Given the description of an element on the screen output the (x, y) to click on. 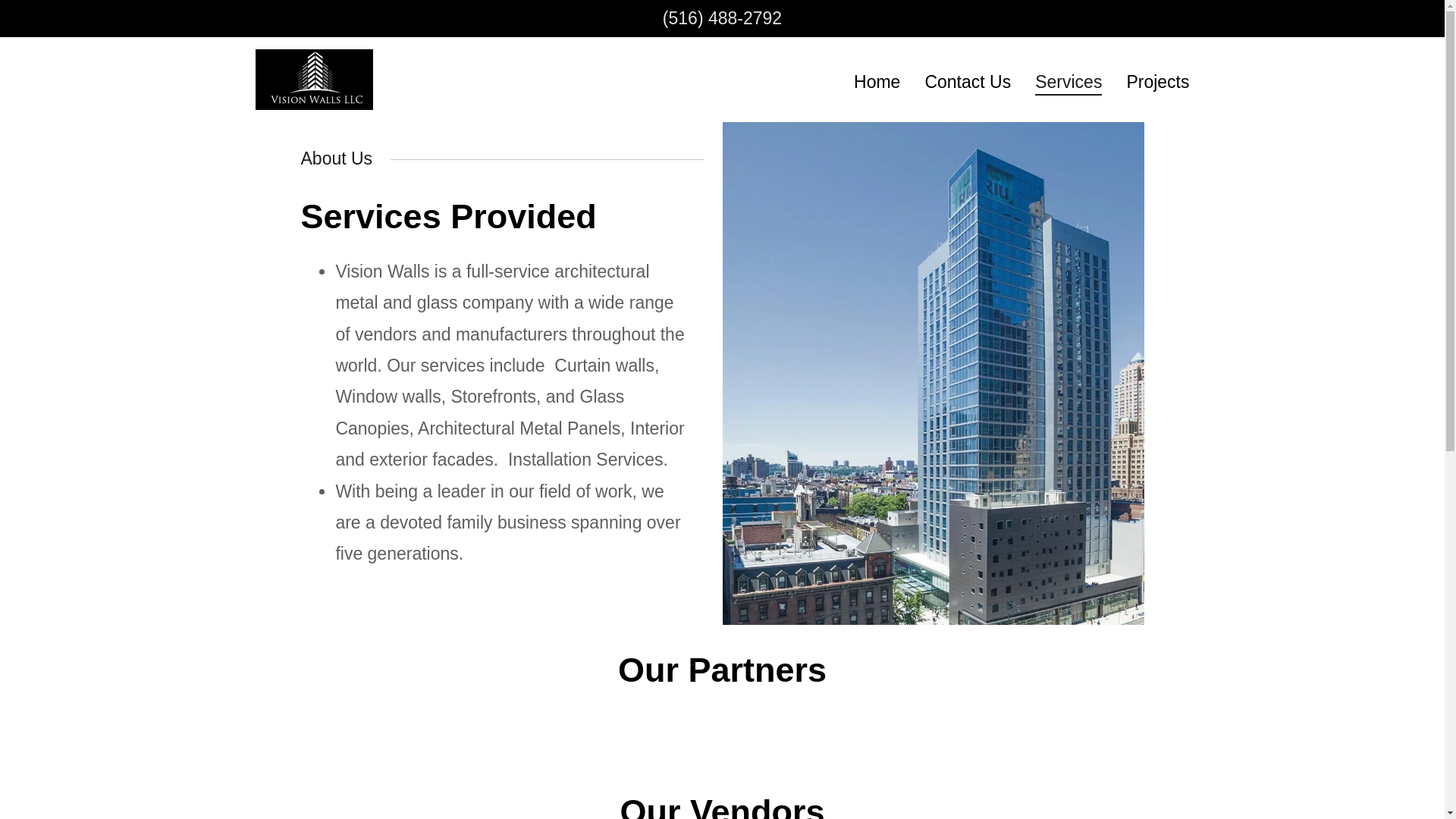
Vision Walls LLC (313, 77)
Projects (1157, 80)
Home (876, 80)
Contact Us (967, 80)
Services (1068, 83)
